Given the description of an element on the screen output the (x, y) to click on. 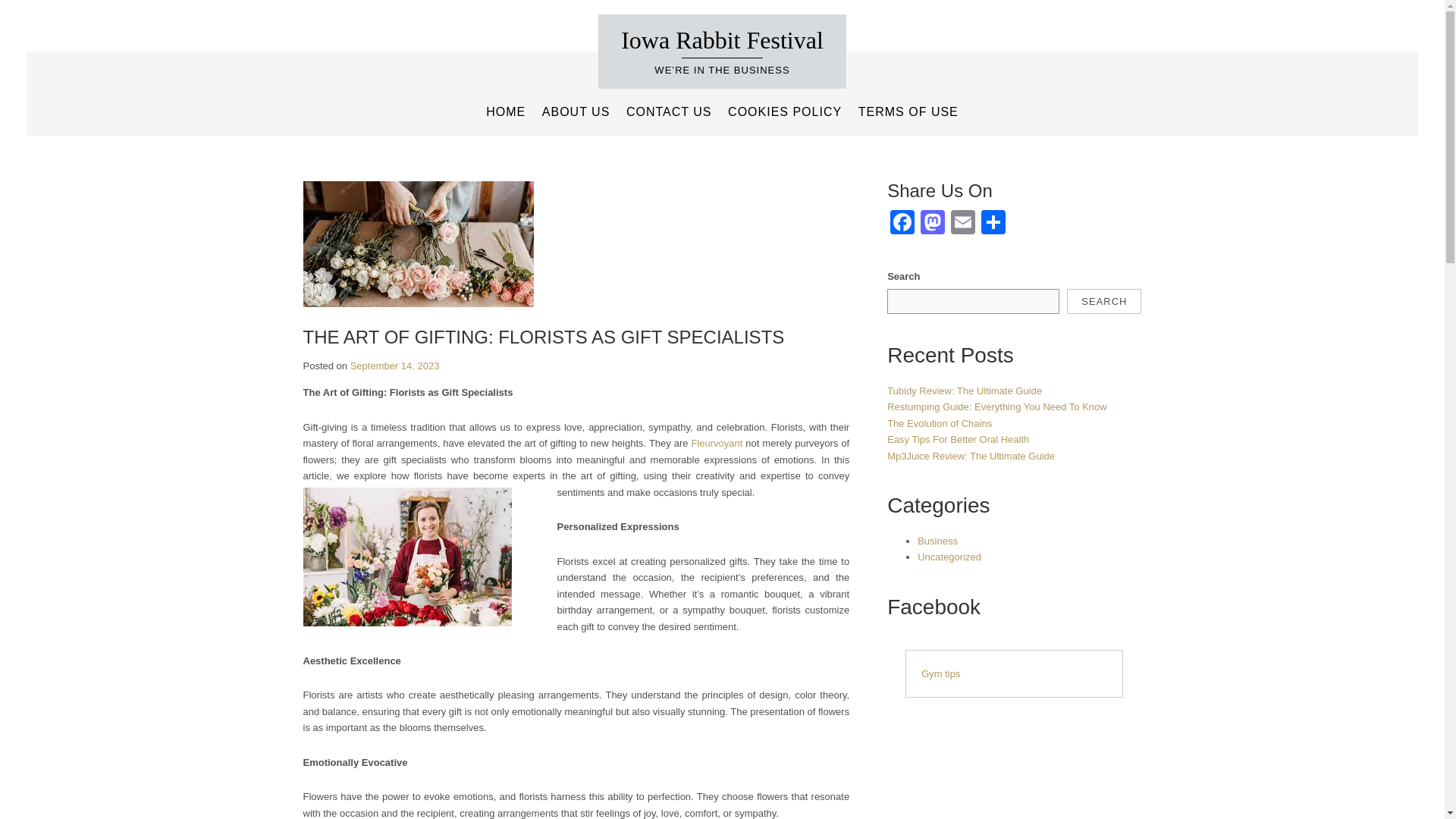
Business (937, 541)
Email (962, 223)
Restumping Guide: Everything You Need To Know (996, 406)
Uncategorized (949, 556)
Fleurvoyant (717, 442)
Gym tips (940, 673)
Mastodon (932, 223)
COOKIES POLICY (784, 112)
Facebook (901, 223)
September 14, 2023 (394, 365)
